Given the description of an element on the screen output the (x, y) to click on. 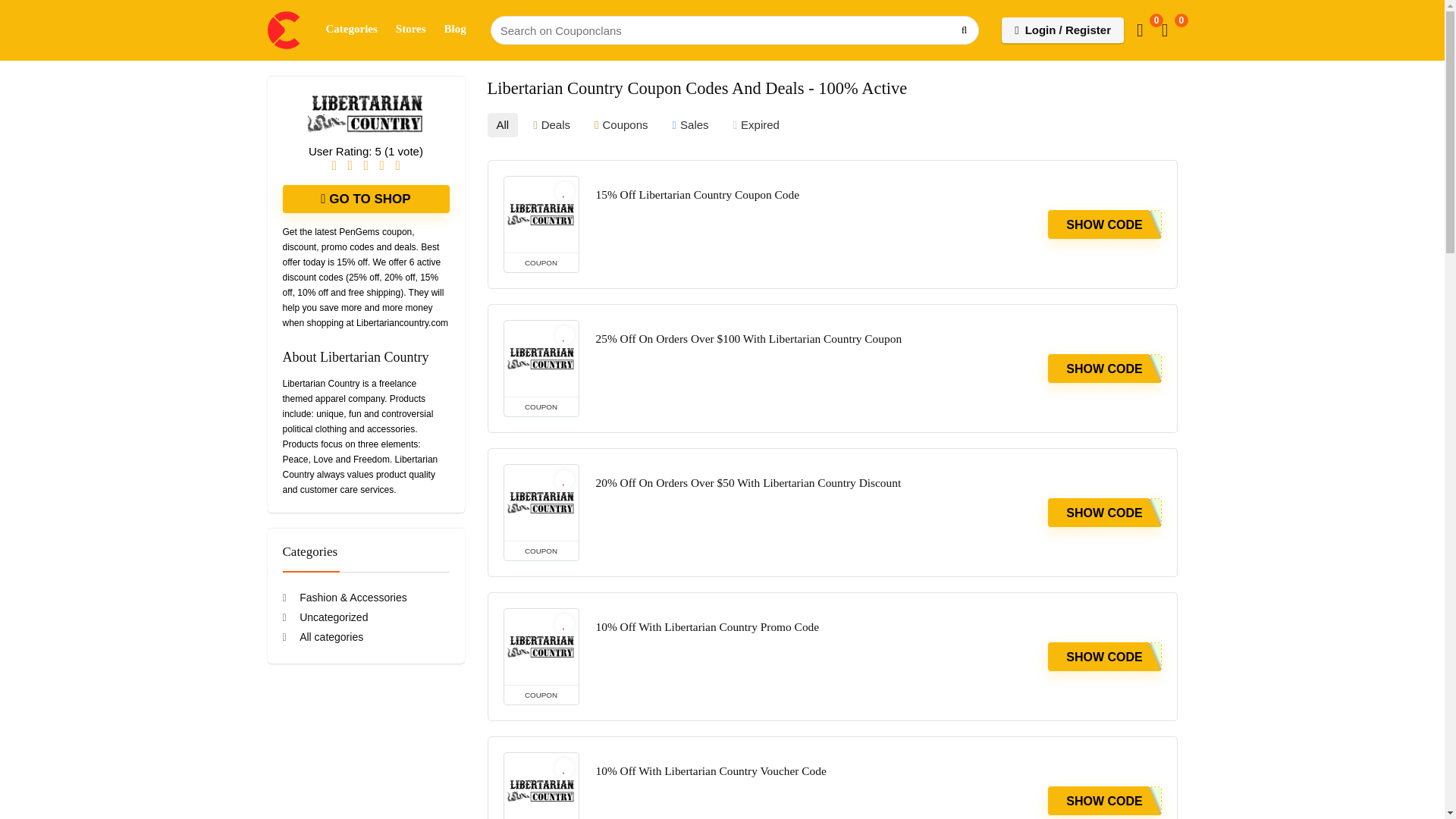
Blog (455, 29)
Stores (411, 29)
Advertisement (365, 760)
Categories (352, 29)
All categories (322, 636)
GO TO SHOP (365, 198)
Uncategorized (325, 617)
